Given the description of an element on the screen output the (x, y) to click on. 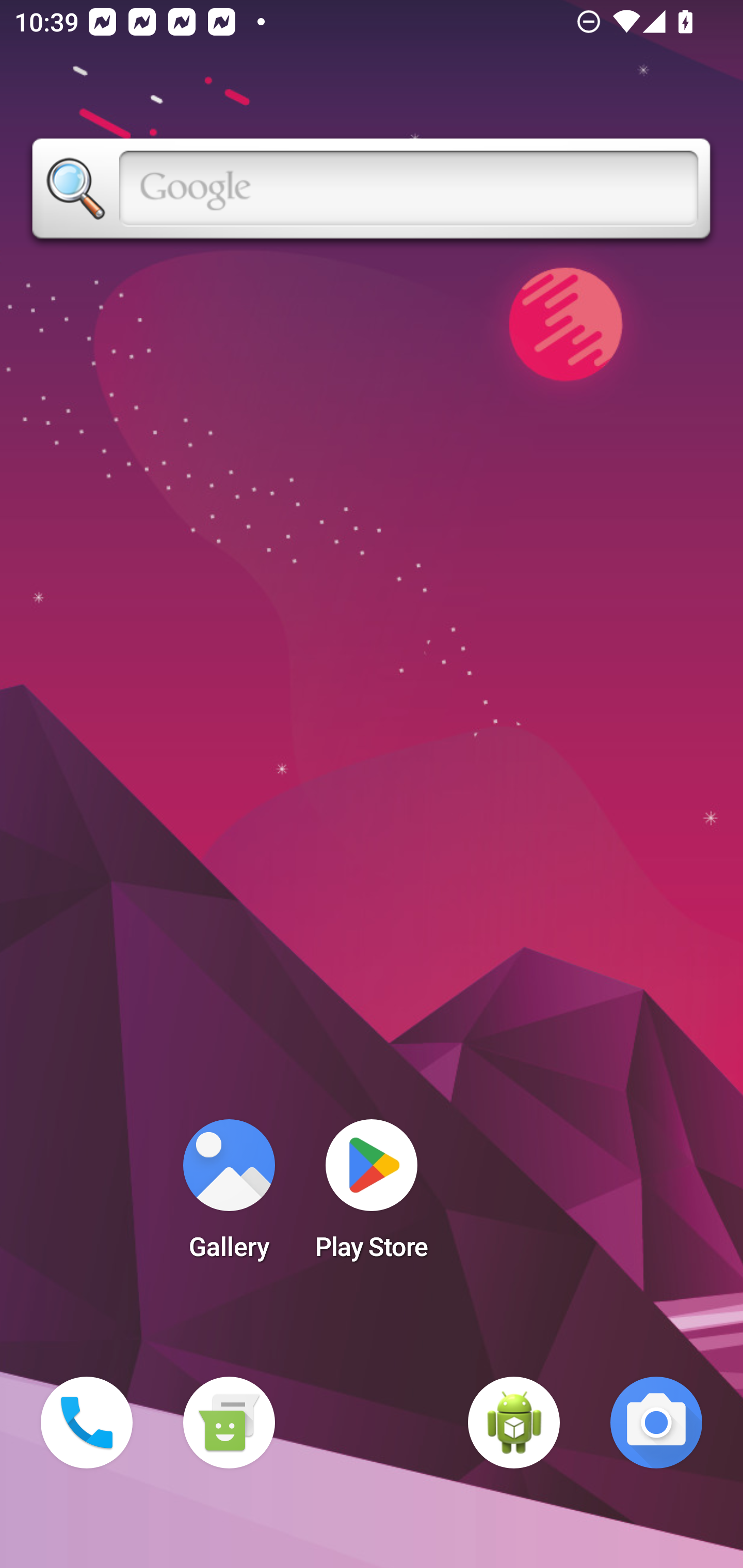
Gallery (228, 1195)
Play Store (371, 1195)
Phone (86, 1422)
Messaging (228, 1422)
WebView Browser Tester (513, 1422)
Camera (656, 1422)
